Given the description of an element on the screen output the (x, y) to click on. 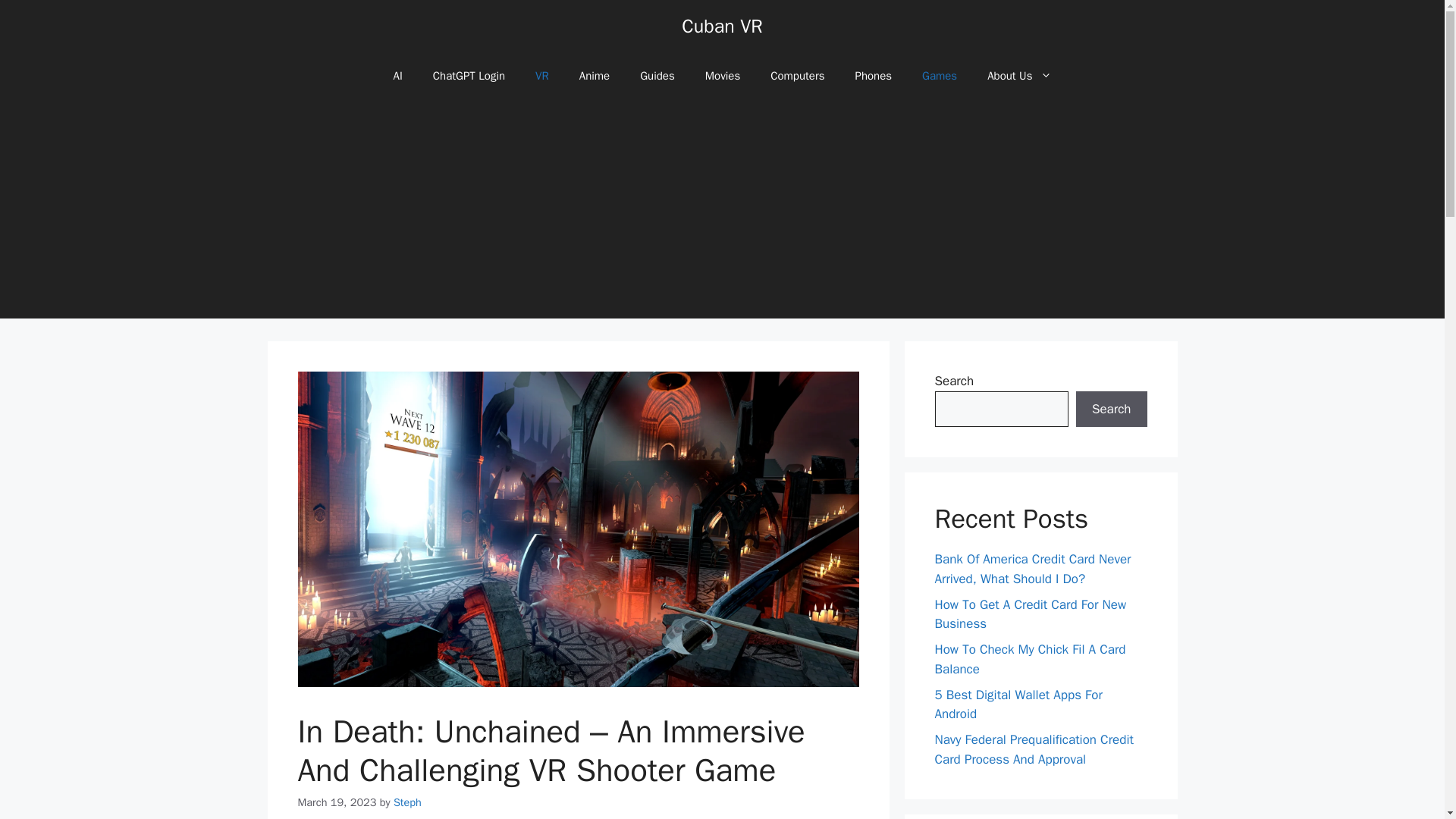
Games (939, 75)
Phones (873, 75)
Movies (722, 75)
Steph (407, 802)
View all posts by Steph (407, 802)
Cuban VR (721, 25)
About Us (1018, 75)
Guides (657, 75)
Anime (594, 75)
